Given the description of an element on the screen output the (x, y) to click on. 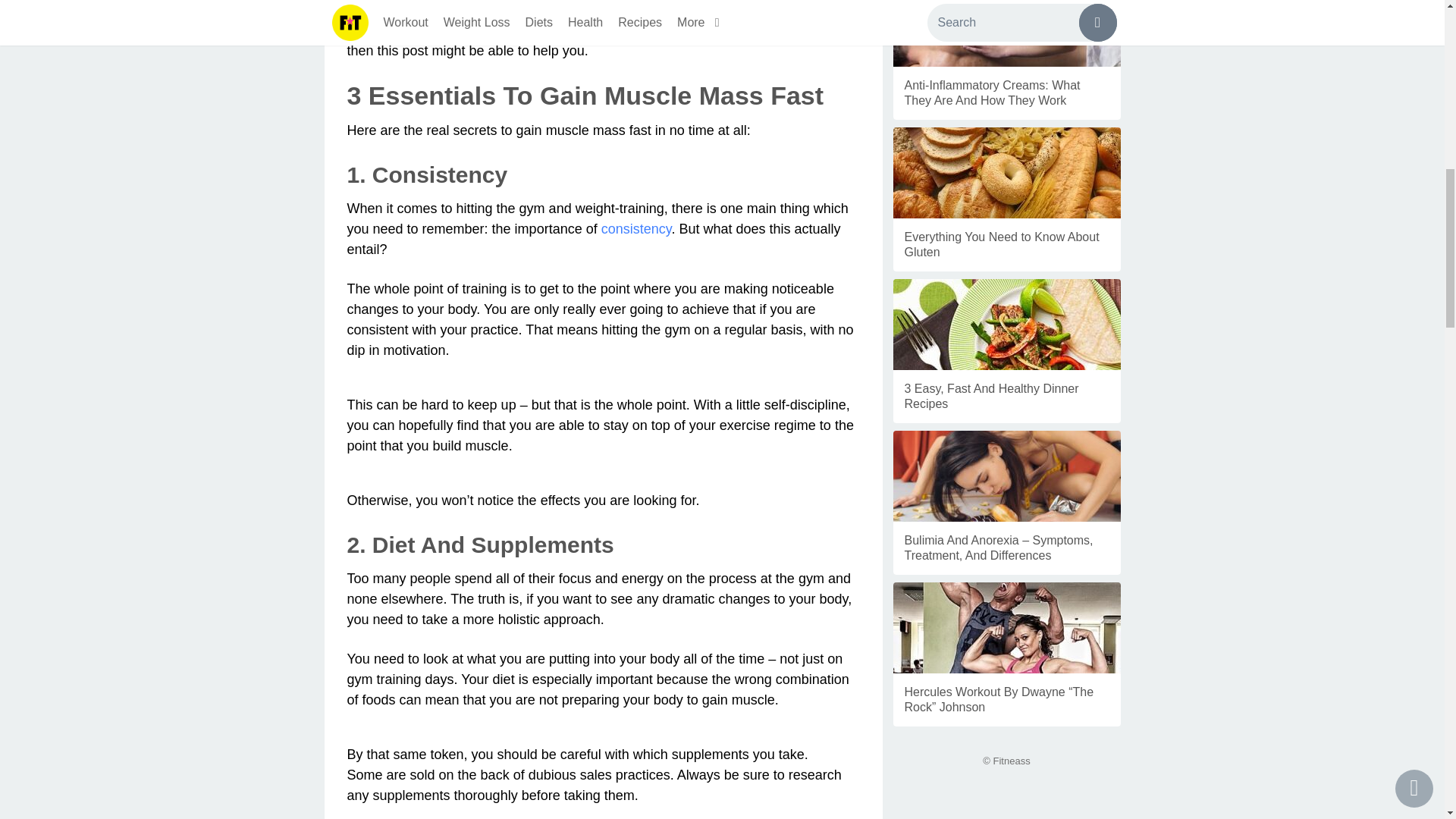
consistency (636, 228)
